Given the description of an element on the screen output the (x, y) to click on. 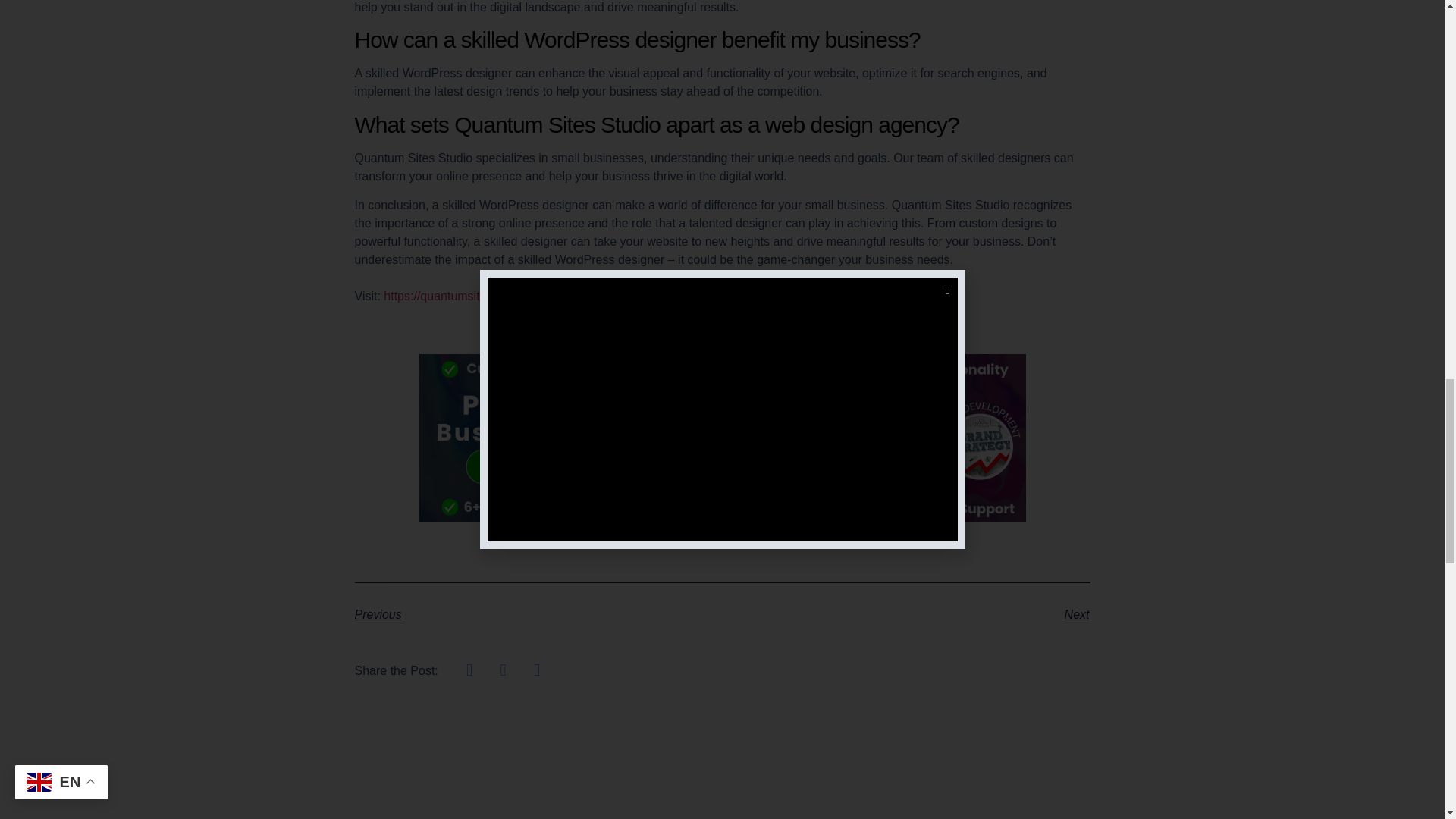
Next (905, 615)
Previous (538, 615)
